Given the description of an element on the screen output the (x, y) to click on. 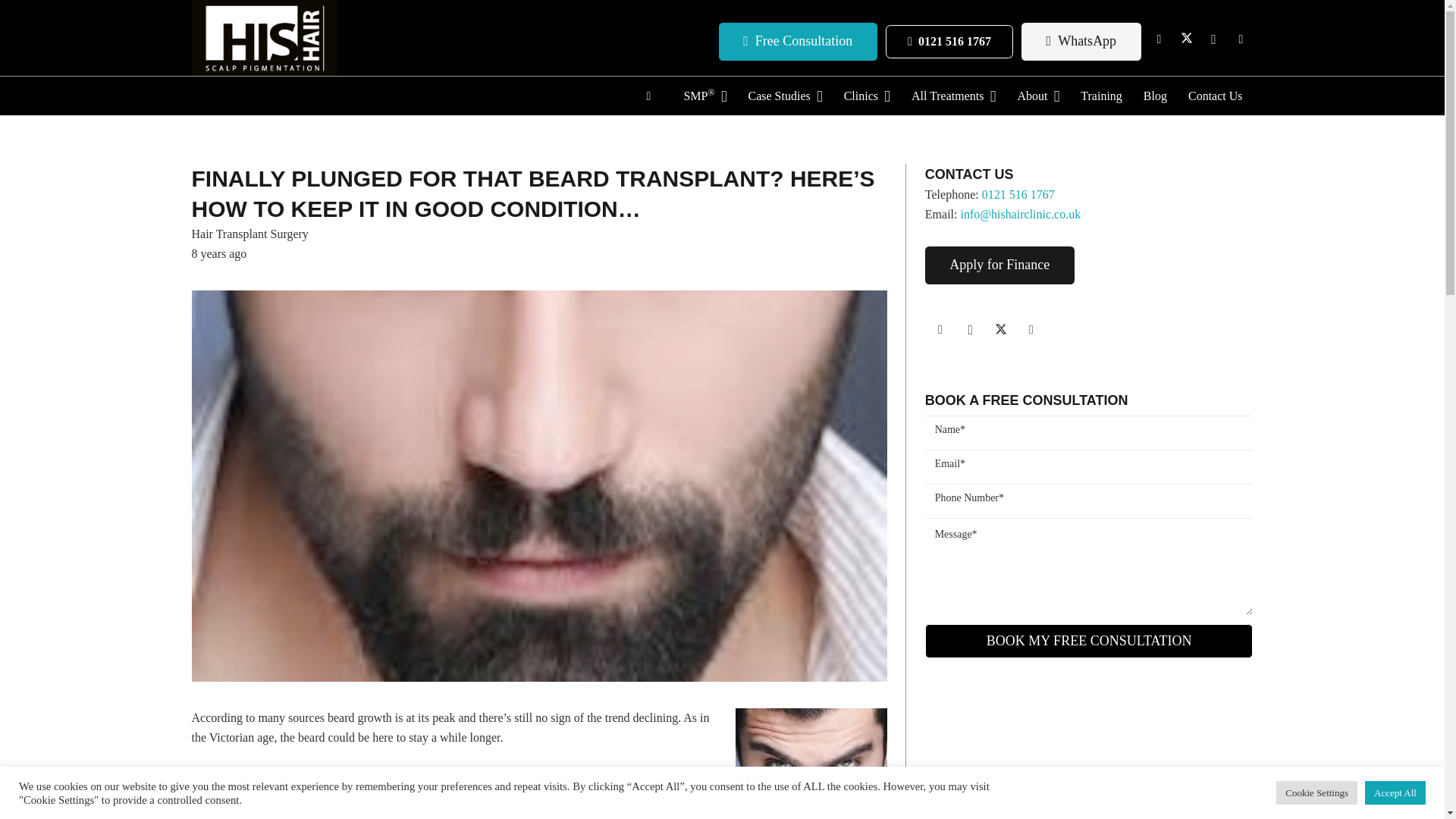
Instagram (1213, 39)
Twitter (1186, 39)
All Treatments (953, 96)
Apply for Finance (999, 265)
WhatsApp (1081, 41)
Case Studies (784, 96)
YouTube (1240, 39)
Clinics (866, 96)
0121 516 1767 (948, 41)
Facebook (1159, 39)
